Given the description of an element on the screen output the (x, y) to click on. 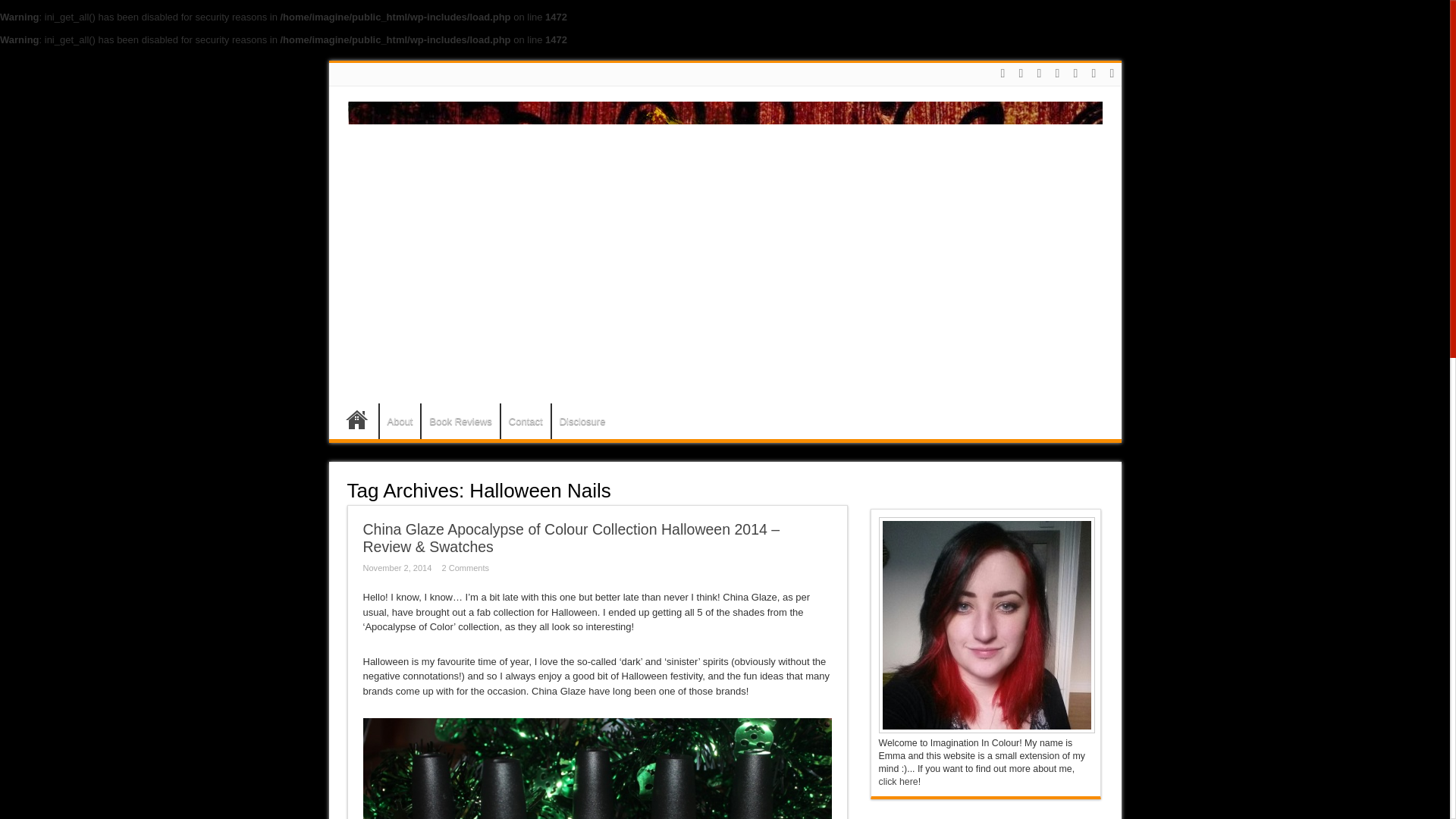
Imagination In Colour (724, 372)
2 Comments (468, 567)
About (399, 420)
Contact (525, 420)
Home (357, 423)
Disclosure (581, 420)
Book Reviews (459, 420)
click here (897, 781)
